Given the description of an element on the screen output the (x, y) to click on. 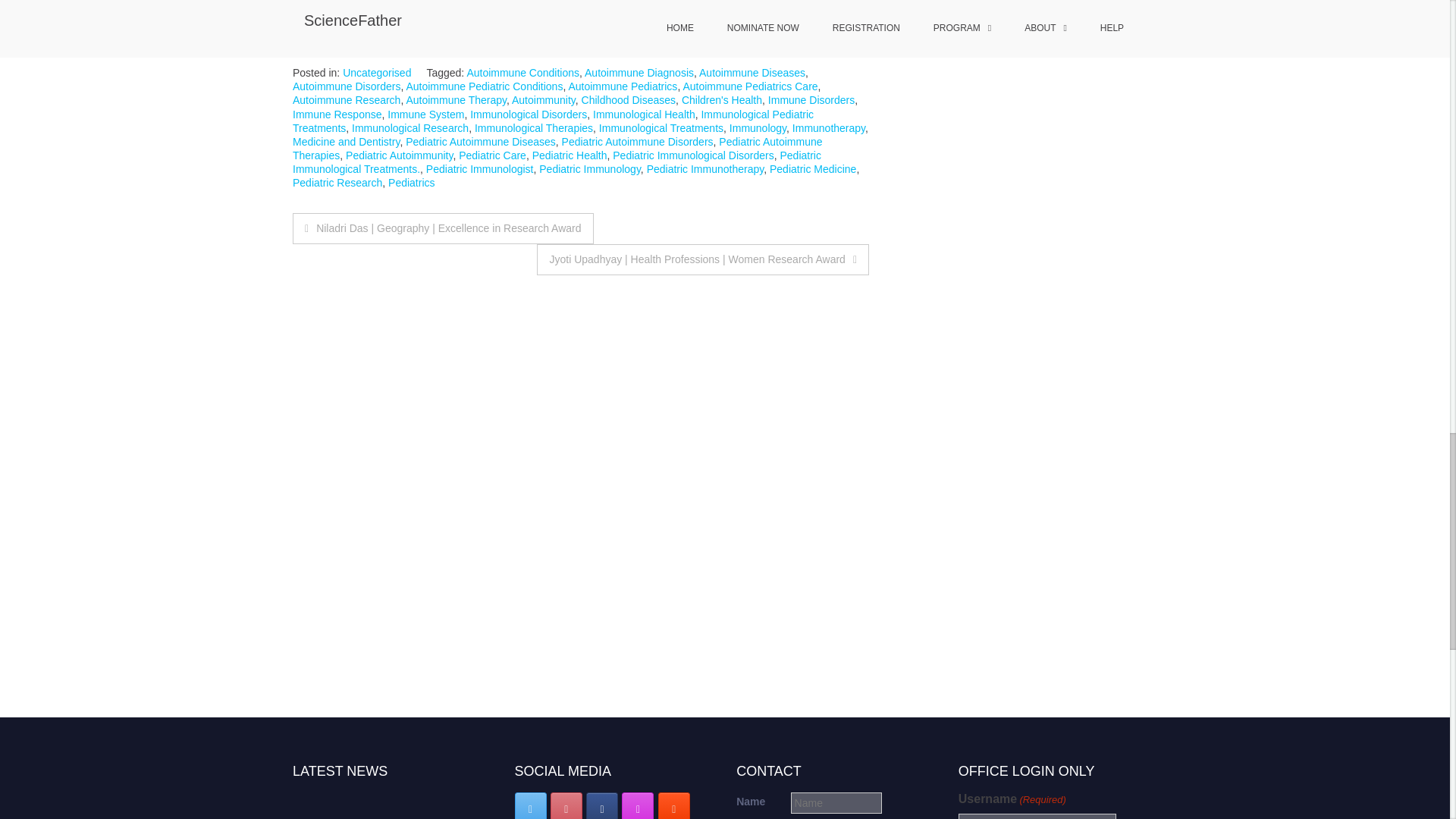
Uncategorised (376, 72)
Autoimmune Disorders (346, 86)
ScienceFather on Blogger B (674, 805)
Autoimmune Diseases (751, 72)
ScienceFather on X Twitter (531, 805)
Autoimmune Conditions (522, 72)
ScienceFather on Facebook (601, 805)
Autoimmune Diagnosis (639, 72)
ScienceFather on Pinterest (566, 805)
ScienceFather on Instagram (637, 805)
